Given the description of an element on the screen output the (x, y) to click on. 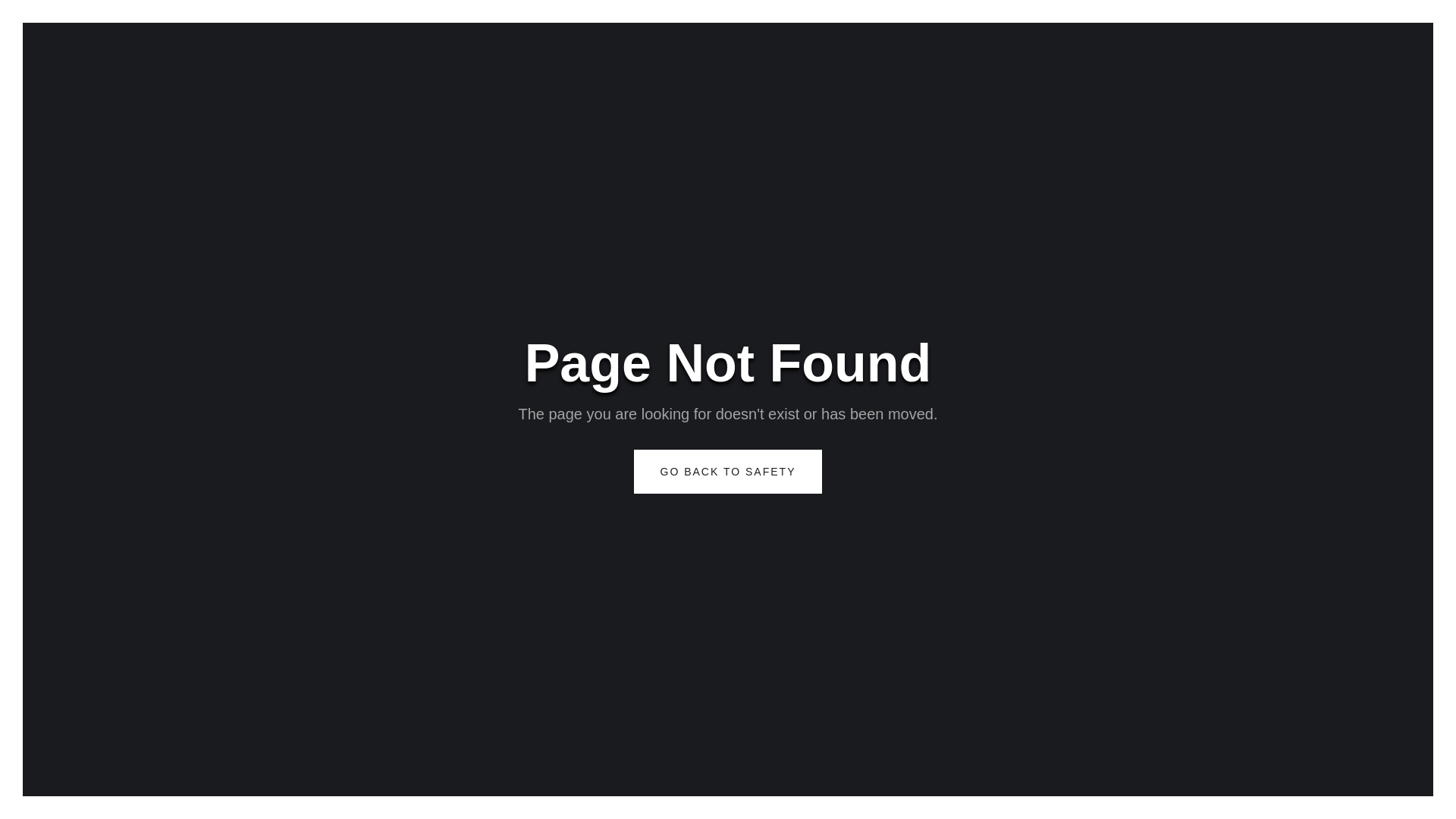
GO BACK TO SAFETY Element type: text (727, 471)
